Given the description of an element on the screen output the (x, y) to click on. 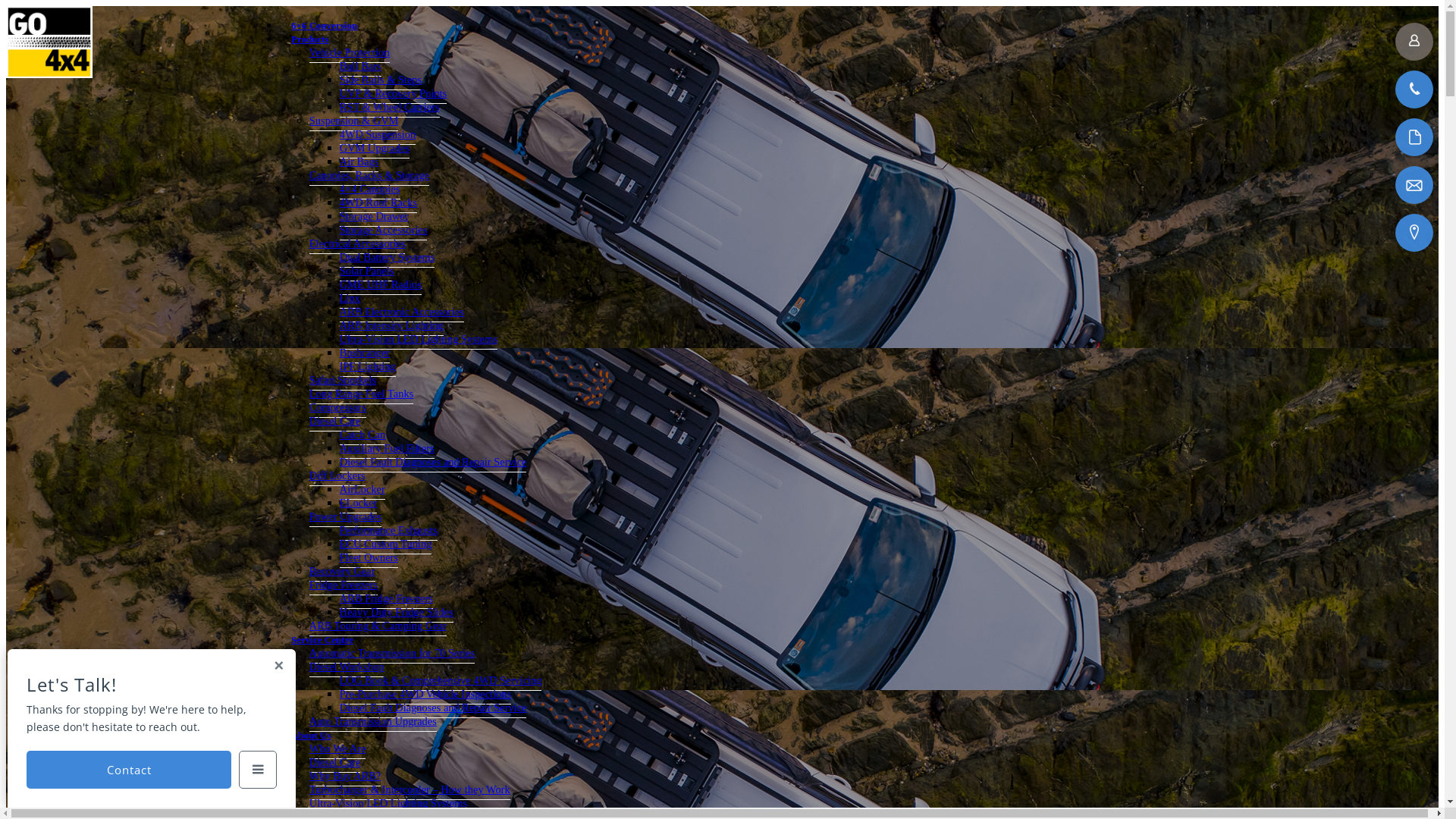
Storage Accessories Element type: text (383, 229)
Canopies, Racks & Storage Element type: text (369, 175)
Air Bags Element type: text (359, 161)
ARB Intensity Lighting Element type: text (391, 325)
Automatic Transmission for 70 Series Element type: text (391, 653)
RST & Wheel Carriers Element type: text (389, 107)
Vehicle Protection Element type: text (349, 52)
Heavy Duty Fridge Slides Element type: text (396, 612)
Bull Bars Element type: text (360, 66)
Storage Drawer Element type: text (373, 216)
Side Rails & Steps Element type: text (380, 79)
GVM Upgrades Element type: text (374, 148)
Ultra-Vision LED Lighting Systems Element type: text (388, 803)
Compressors Element type: text (337, 407)
UVP & Recovery Points Element type: text (392, 93)
Diesel Fault Diagnoses and Repair Service Element type: text (433, 461)
Suspension & GVM Element type: text (353, 120)
Bushranger Element type: text (364, 352)
ARB Touring & Camping Gear Element type: text (377, 625)
Performance Exhausts Element type: text (388, 530)
Contact Element type: text (128, 769)
Who We Are Element type: text (337, 748)
Diff Lockers Element type: text (337, 475)
IPF Lighting Element type: text (367, 366)
Recovery Gear Element type: text (342, 571)
LOG Book & Comprehensive 4WD Servicing Element type: text (440, 680)
Long Range Fuel Tanks Element type: text (361, 393)
About Us Element type: text (311, 734)
Diesel Workshop Element type: text (346, 666)
Auxiliary Fuel Filters Element type: text (386, 448)
Linx Element type: text (349, 298)
Service Centre Element type: text (322, 639)
Diesel Fault Diagnoses and Repair Service Element type: text (433, 707)
Auto Transmission Upgrades Element type: text (372, 721)
Products Element type: text (310, 38)
Solar Panels Element type: text (366, 270)
GME UHF Radios Element type: text (380, 284)
4WD Roof Racks Element type: text (378, 202)
Ultra-Vision LED Lighting Systems Element type: text (418, 339)
Electrical Accessories Element type: text (357, 243)
ELocker Element type: text (358, 502)
4WD Suspension Element type: text (377, 134)
Dual Battery Systems Element type: text (387, 257)
AirLocker Element type: text (362, 489)
Fleet Owners Element type: text (368, 557)
ECU Custom Tuning Element type: text (385, 543)
Power Upgrades Element type: text (345, 516)
ARB Fridge Freezers Element type: text (386, 598)
Fridge Freezers Element type: text (343, 584)
Safari Snorkels Element type: text (342, 380)
Catch Can Element type: text (362, 434)
ARB Electronic Accessories Element type: text (401, 311)
Diesel Care Element type: text (334, 421)
Why Buy ARB? Element type: text (344, 775)
Pre-Purchase 4WD Vehicle Inspections Element type: text (425, 694)
Diesel Care Element type: text (334, 762)
